Given the description of an element on the screen output the (x, y) to click on. 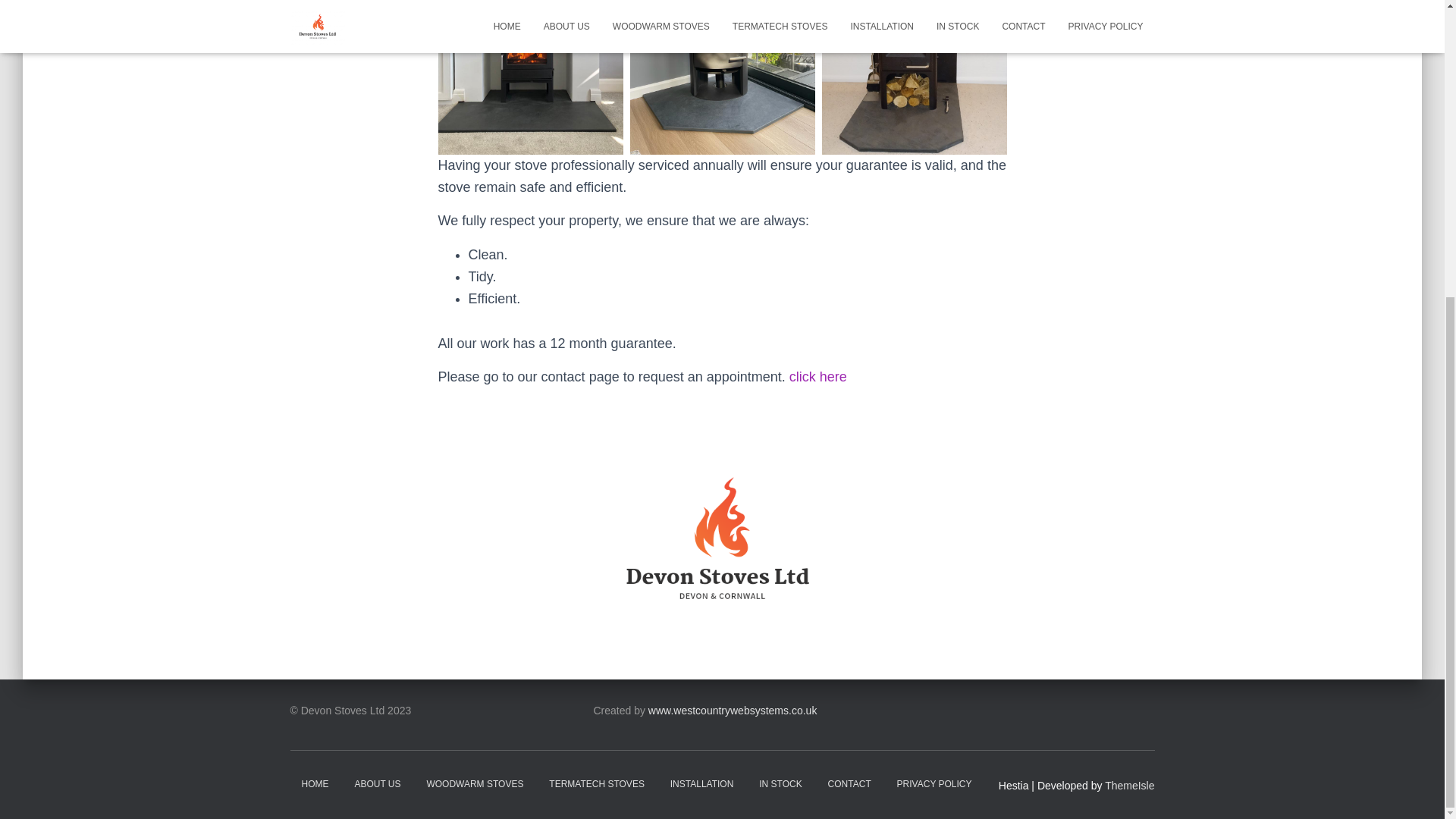
CONTACT (849, 784)
click here (818, 376)
IN STOCK (780, 784)
WOODWARM STOVES (474, 784)
TERMATECH STOVES (596, 784)
www.westcountrywebsystems.co.uk (731, 710)
INSTALLATION (702, 784)
PRIVACY POLICY (934, 784)
ABOUT US (377, 784)
ThemeIsle (1129, 785)
